Given the description of an element on the screen output the (x, y) to click on. 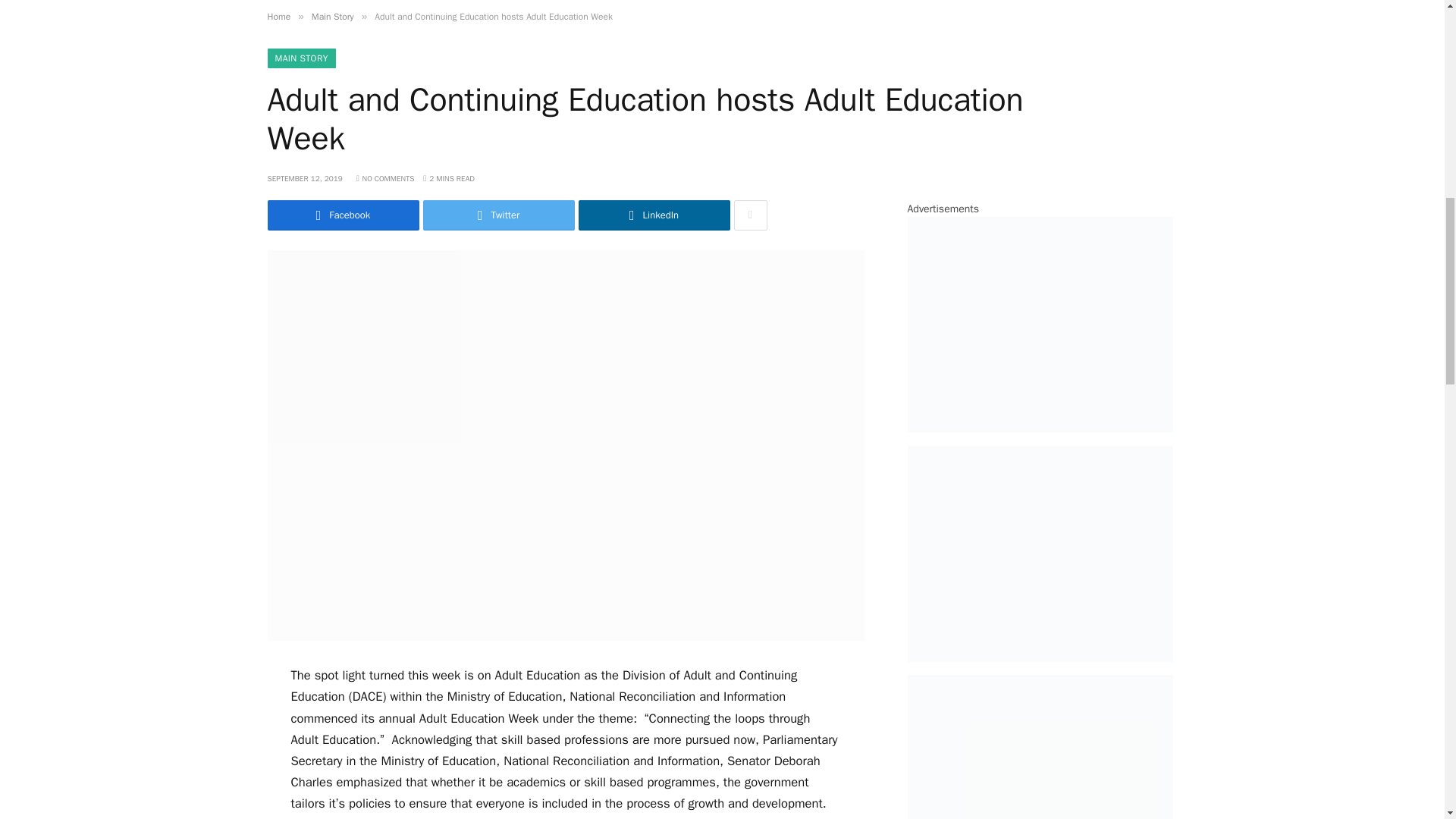
MAIN STORY (300, 57)
Asberth News Network (105, 3)
NO COMMENTS (385, 178)
Latest News (471, 3)
Back to School (1017, 3)
LinkedIn (653, 214)
Home (403, 3)
Share on LinkedIn (653, 214)
Local News (650, 3)
